Given the description of an element on the screen output the (x, y) to click on. 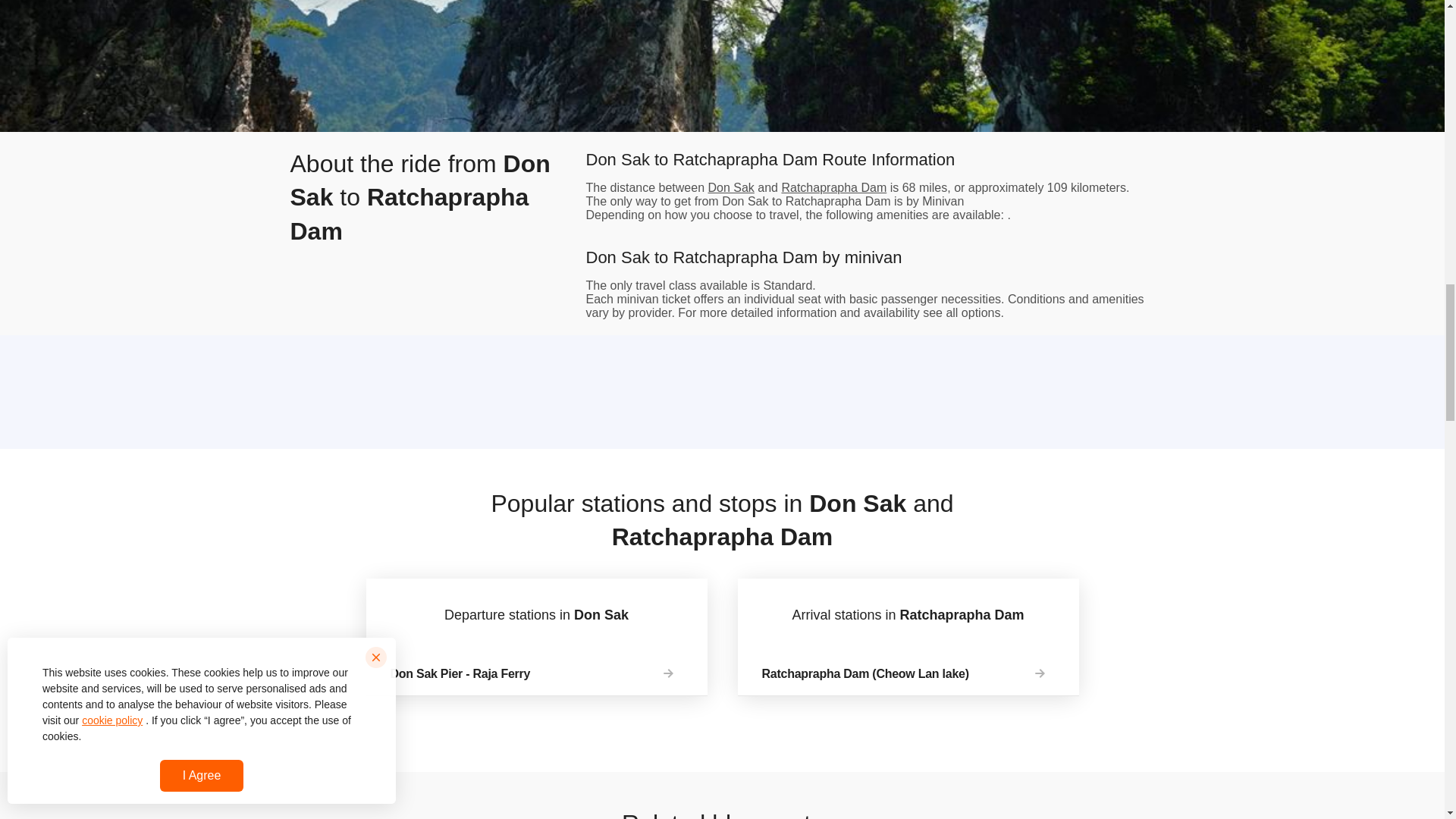
Ratchaprapha Dam (833, 187)
Don Sak (730, 187)
